Given the description of an element on the screen output the (x, y) to click on. 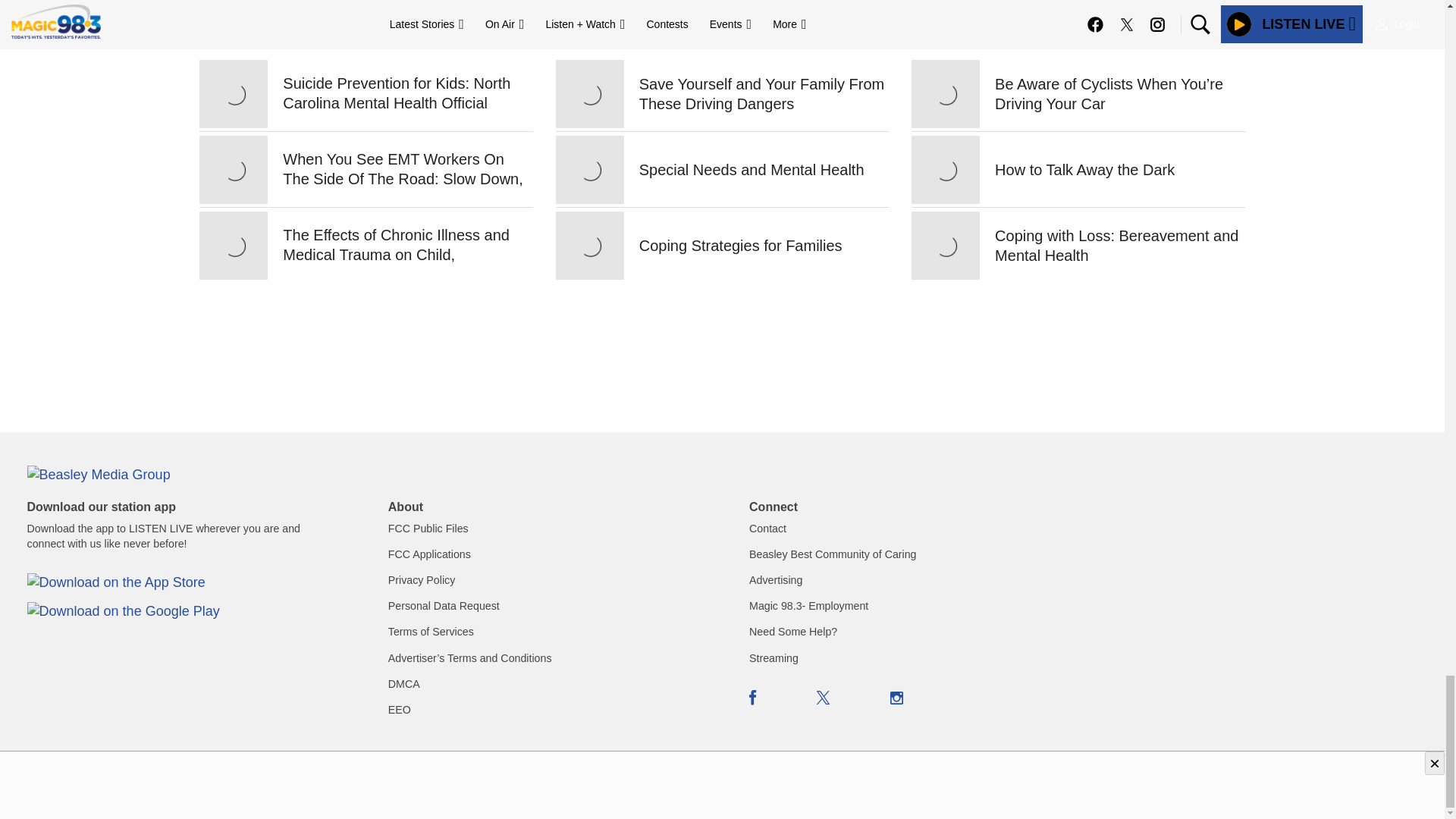
Instagram (895, 697)
Twitter (823, 697)
